Given the description of an element on the screen output the (x, y) to click on. 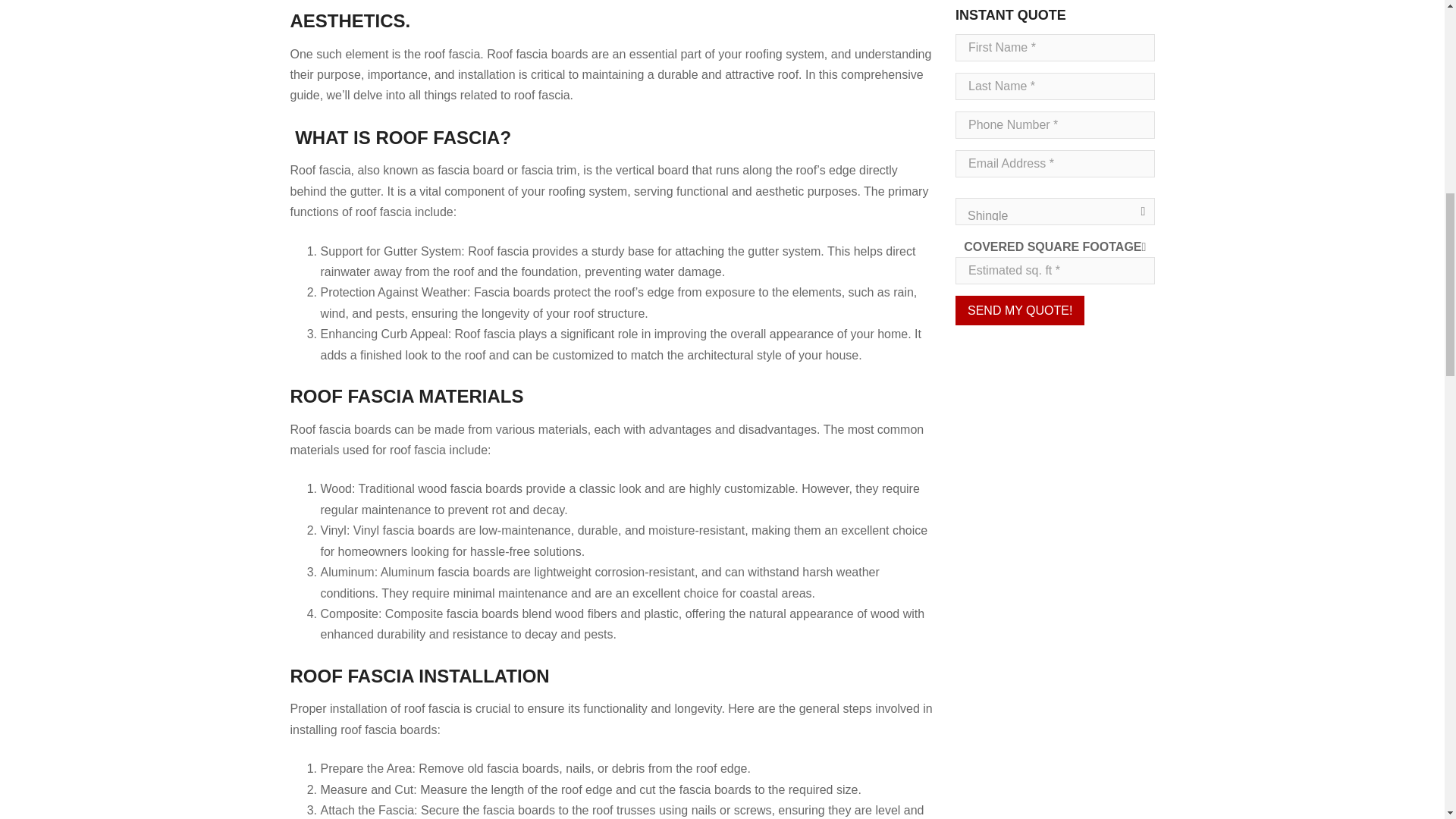
SEND MY QUOTE! (1019, 310)
SEND MY QUOTE! (1019, 310)
